Given the description of an element on the screen output the (x, y) to click on. 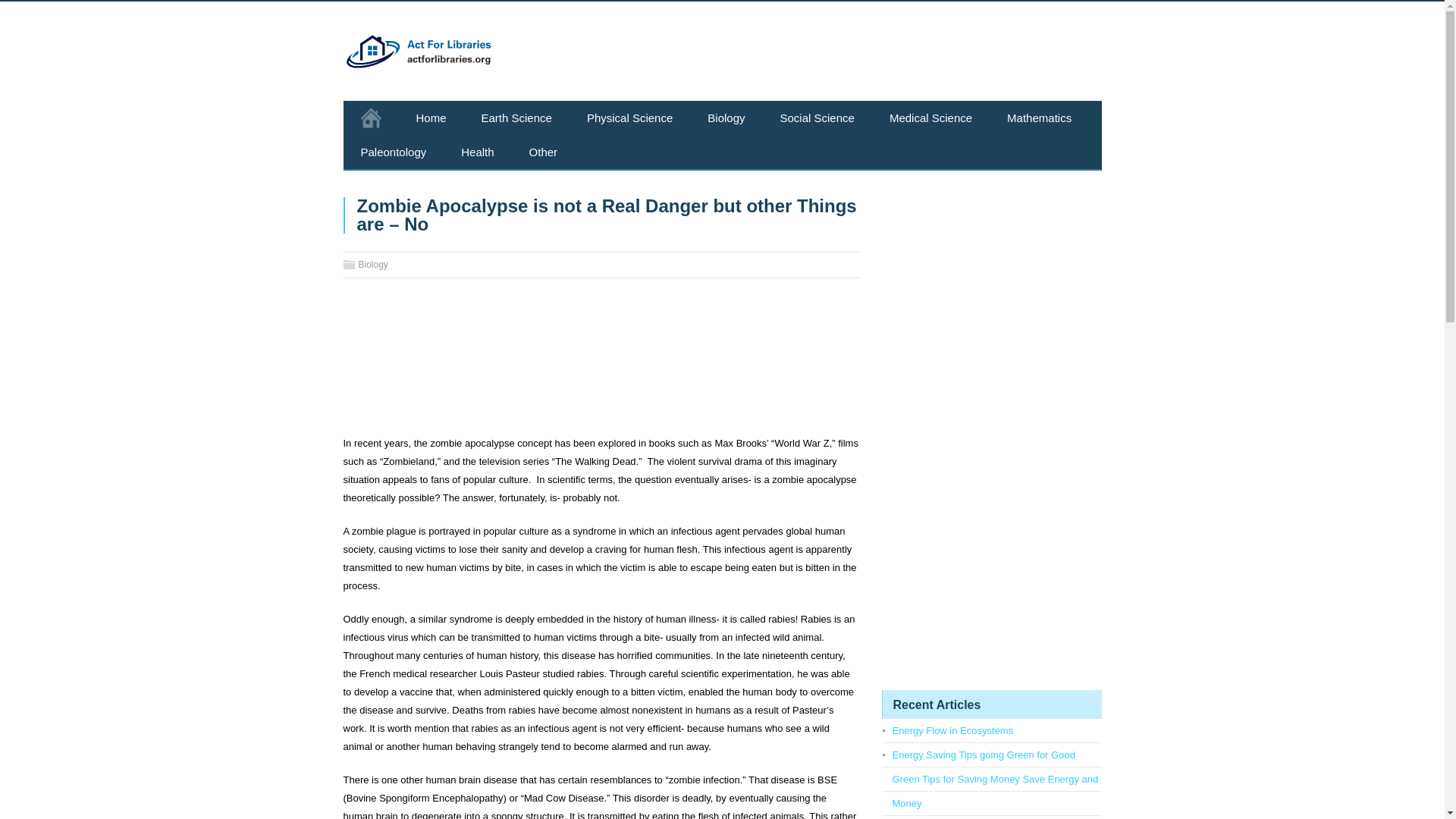
Health (477, 151)
Biology (725, 117)
Social Science (817, 117)
Biology (372, 264)
Energy Flow in Ecosystems (952, 730)
Paleontology (393, 151)
Medical Science (931, 117)
Home (431, 117)
Mathematics (1039, 117)
